Given the description of an element on the screen output the (x, y) to click on. 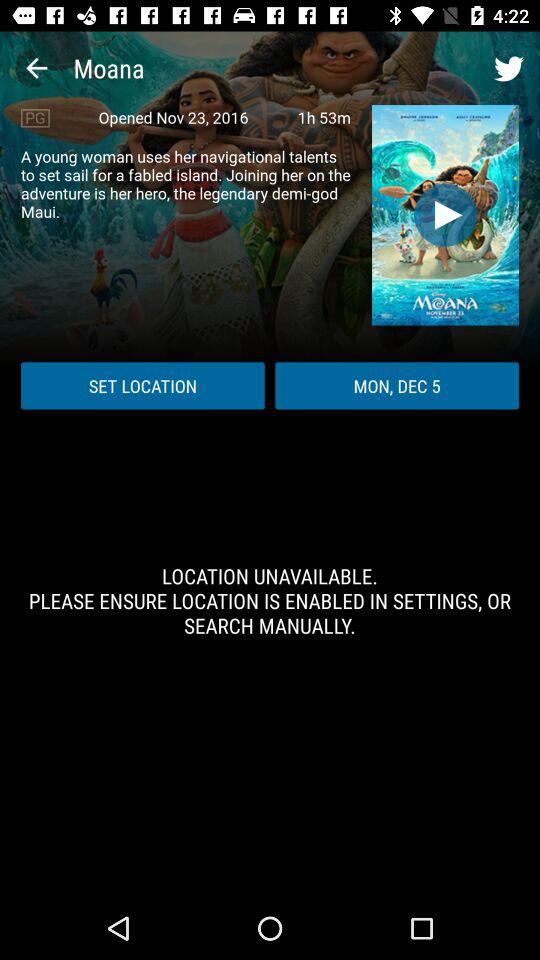
open icon above the set location icon (185, 183)
